Given the description of an element on the screen output the (x, y) to click on. 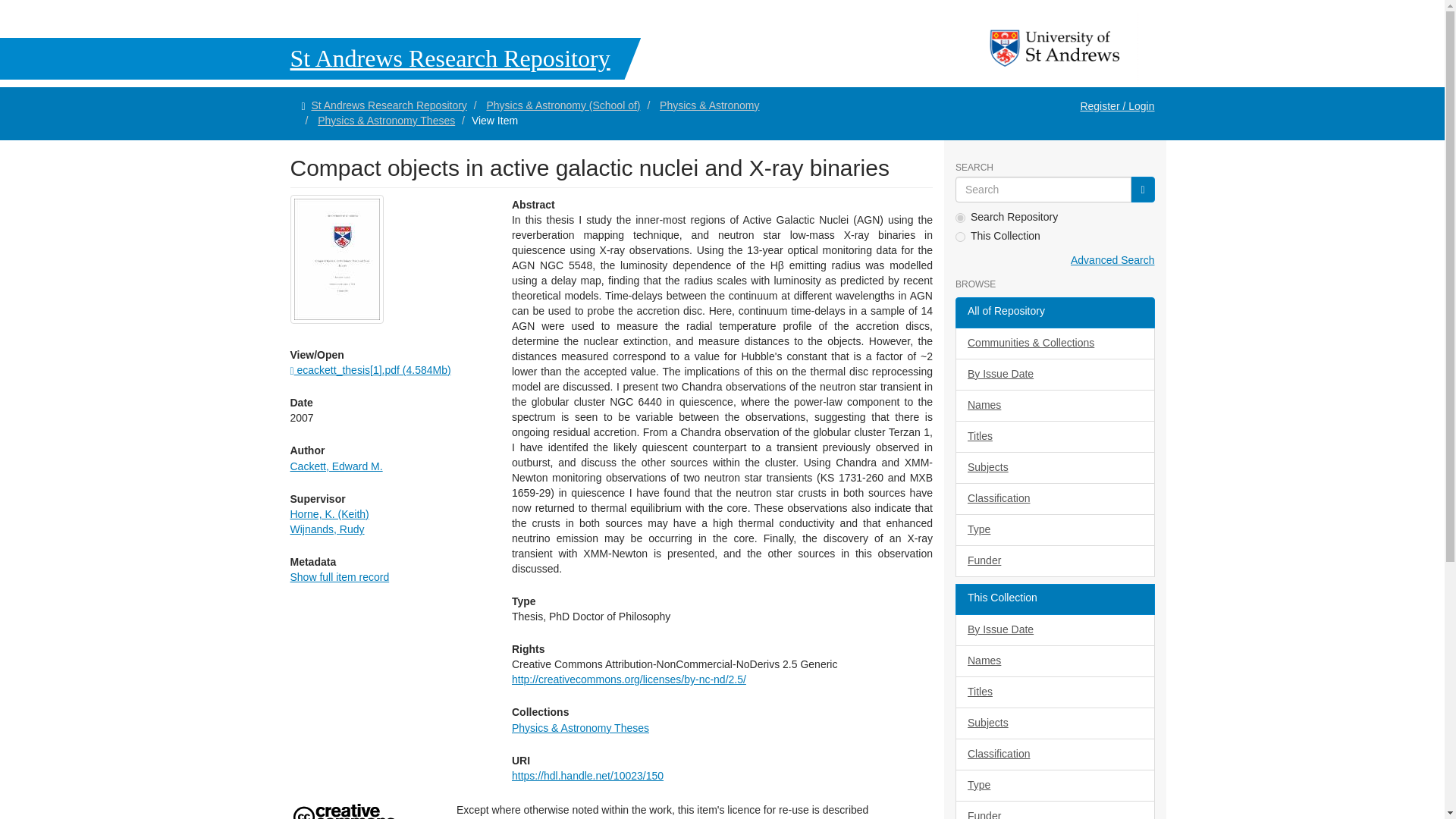
Cackett, Edward M. (335, 466)
Advanced Search (1112, 259)
Go (1142, 189)
Names (1054, 405)
St Andrews University Home (1055, 48)
Type (1054, 530)
Subjects (1054, 468)
St Andrews Research Repository (388, 105)
St Andrews Research Repository (320, 58)
Funder (1054, 561)
